Given the description of an element on the screen output the (x, y) to click on. 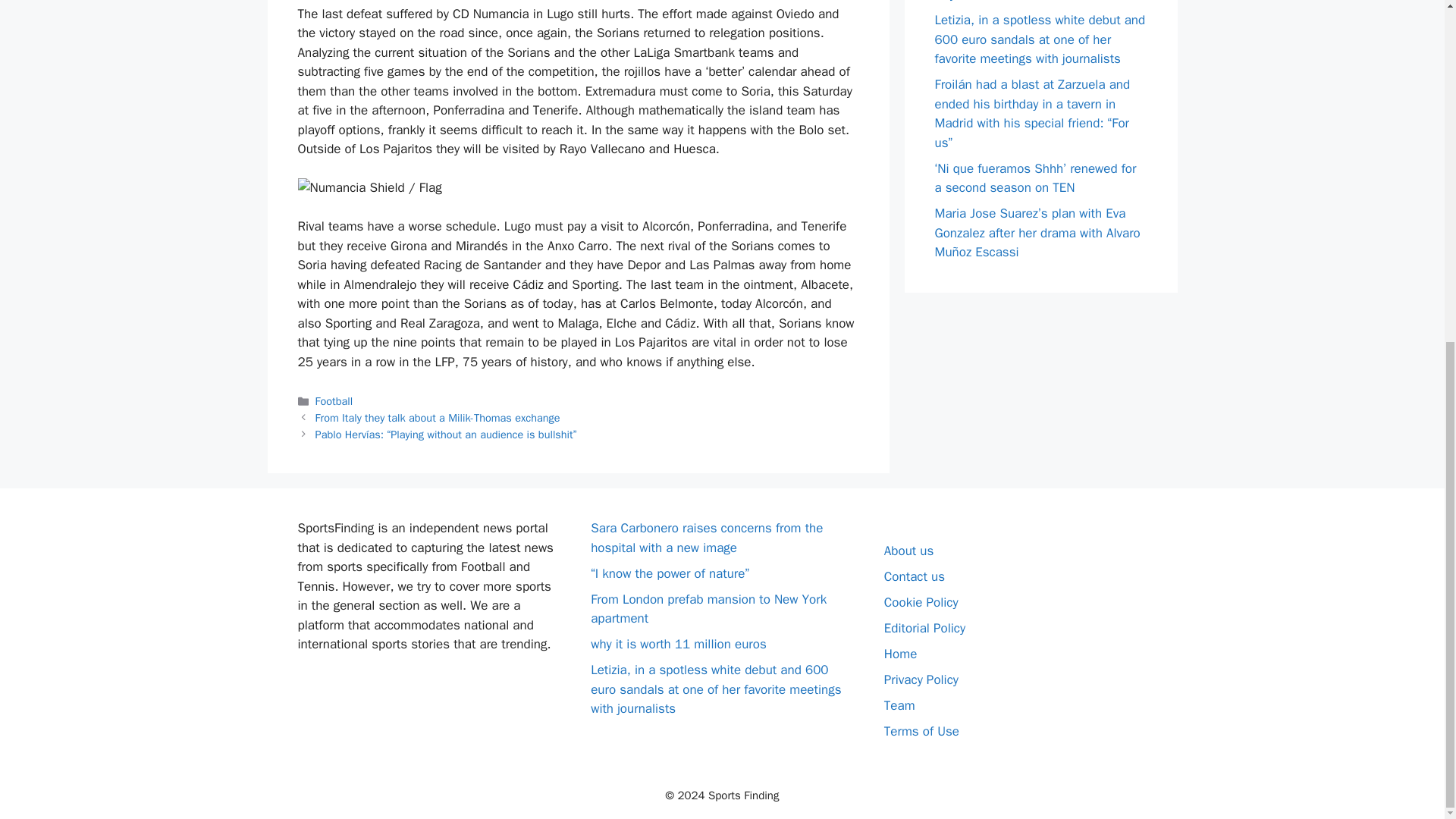
Home (900, 653)
why it is worth 11 million euros (1021, 1)
Contact us (913, 576)
From Italy they talk about a Milik-Thomas exchange (437, 418)
Editorial Policy (924, 627)
Cookie Policy (920, 602)
About us (908, 550)
why it is worth 11 million euros (679, 643)
From London prefab mansion to New York apartment (709, 609)
Football (334, 400)
